Given the description of an element on the screen output the (x, y) to click on. 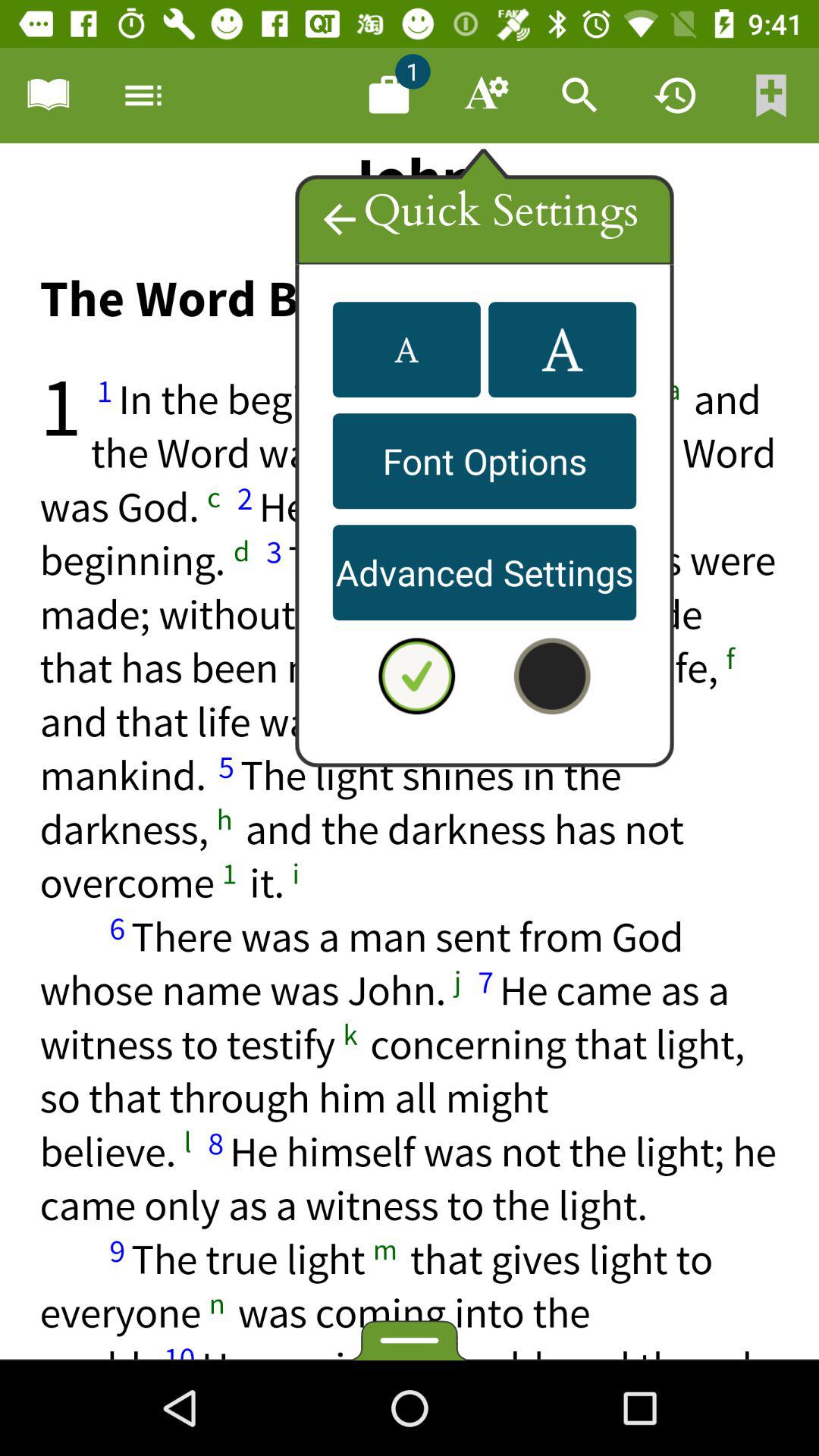
a settings option (562, 349)
